Given the description of an element on the screen output the (x, y) to click on. 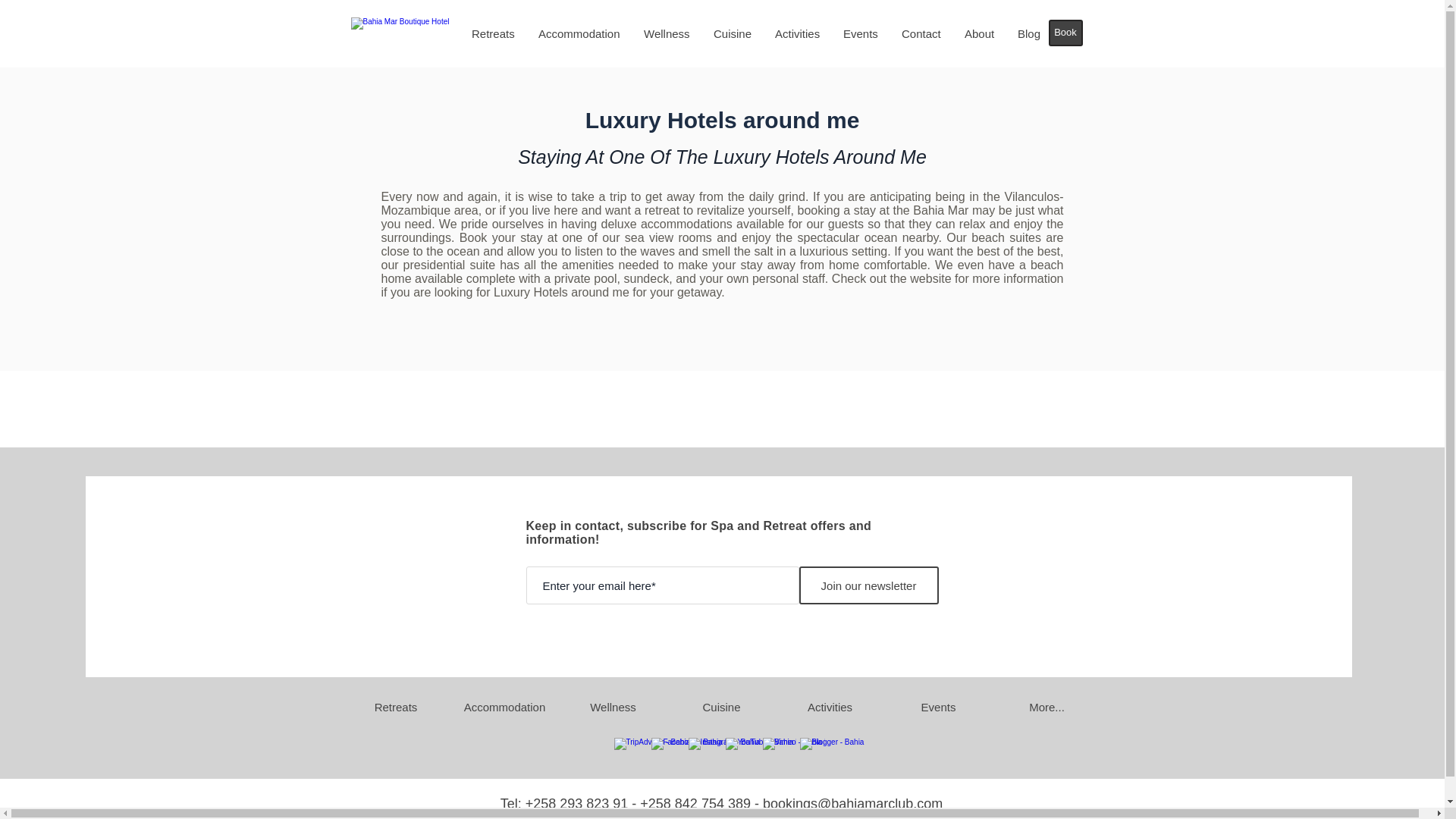
Cuisine (731, 34)
Retreats (492, 34)
Cuisine (721, 706)
Wellness (611, 706)
Join our newsletter (869, 585)
Accommodation (504, 706)
Activities (796, 34)
About (979, 34)
Activities (828, 706)
Contact (920, 34)
Wellness (666, 34)
Accommodation (579, 34)
Book (1064, 32)
Retreats (394, 706)
Events (860, 34)
